Given the description of an element on the screen output the (x, y) to click on. 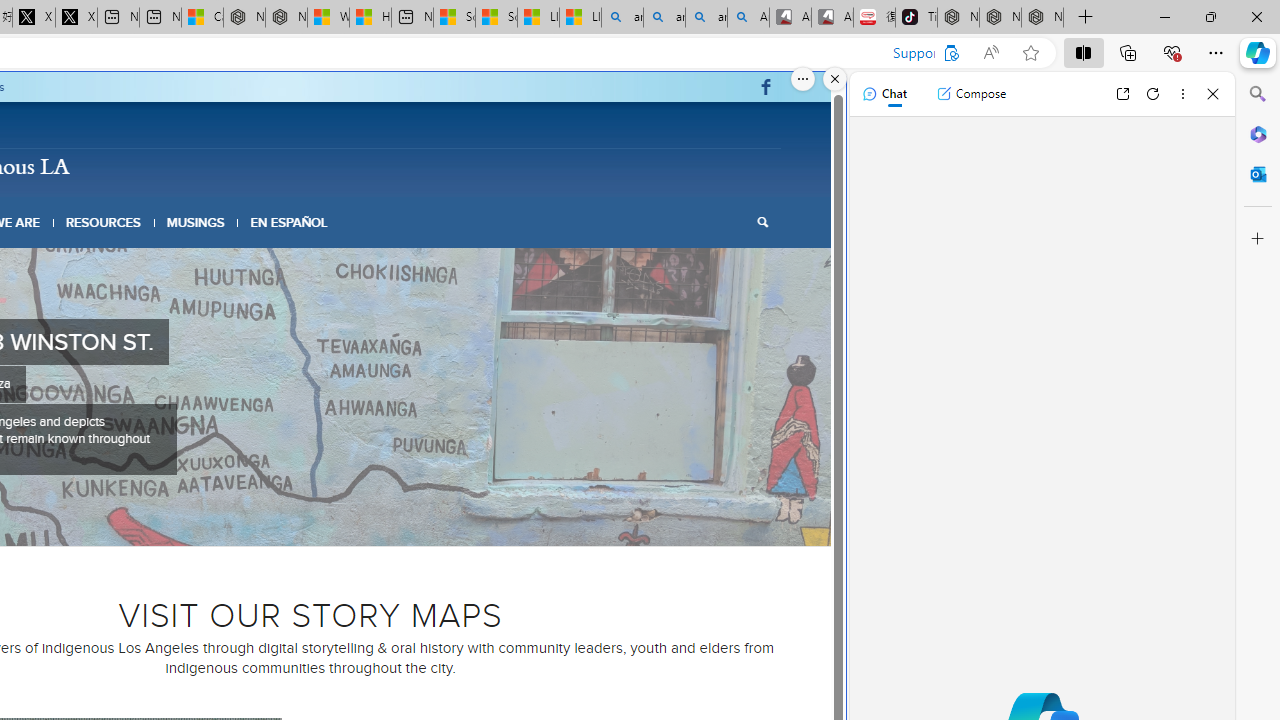
All Cubot phones (831, 17)
Link to Facebook (765, 87)
Open link in new tab (1122, 93)
Amazon Echo Robot - Search Images (748, 17)
2 (269, 521)
Customize (1258, 239)
6 (333, 521)
amazon - Search Images (706, 17)
1 (254, 521)
Outlook (1258, 174)
Nordace Siena Pro 15 Backpack (1000, 17)
